Given the description of an element on the screen output the (x, y) to click on. 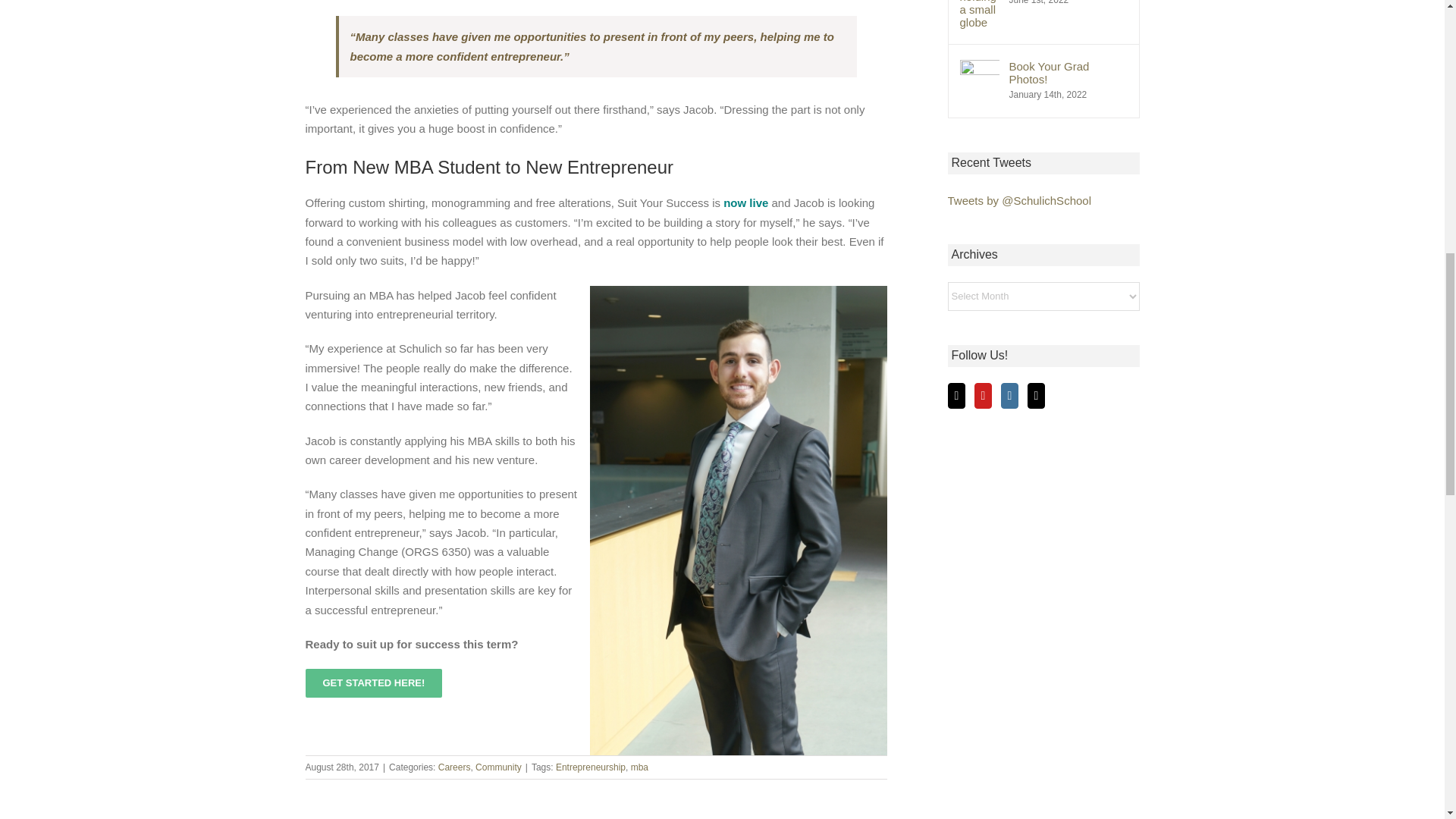
Careers (454, 767)
Entrepreneurship (591, 767)
Community (498, 767)
GET STARTED HERE! (373, 683)
now live (745, 202)
mba (638, 767)
